Given the description of an element on the screen output the (x, y) to click on. 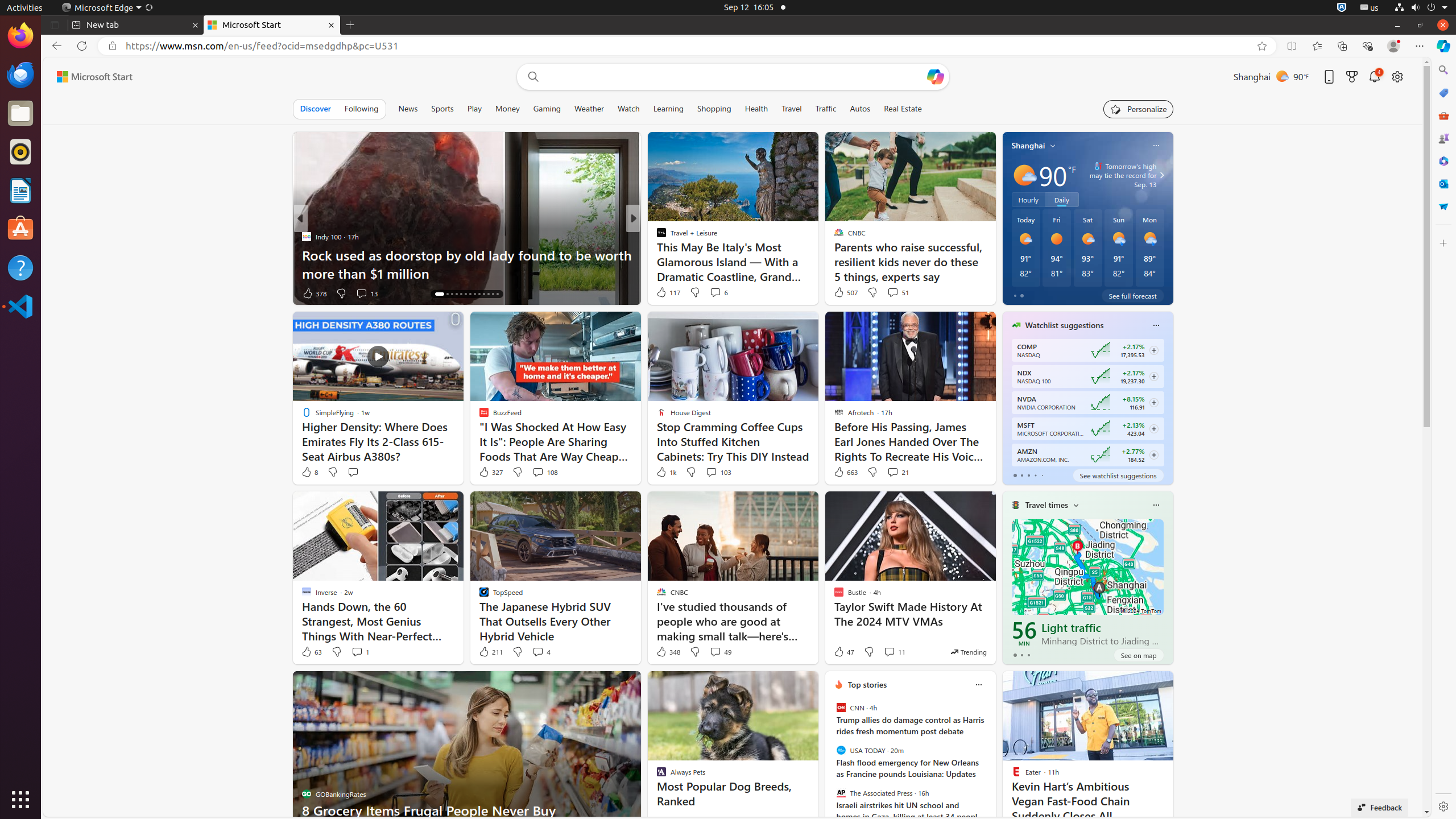
View comments 1 Comment Element type: link (359, 651)
View comments 51 Comment Element type: link (897, 292)
Help Element type: push-button (20, 267)
Microsoft Start Element type: page-tab (271, 25)
News Element type: link (407, 108)
